Given the description of an element on the screen output the (x, y) to click on. 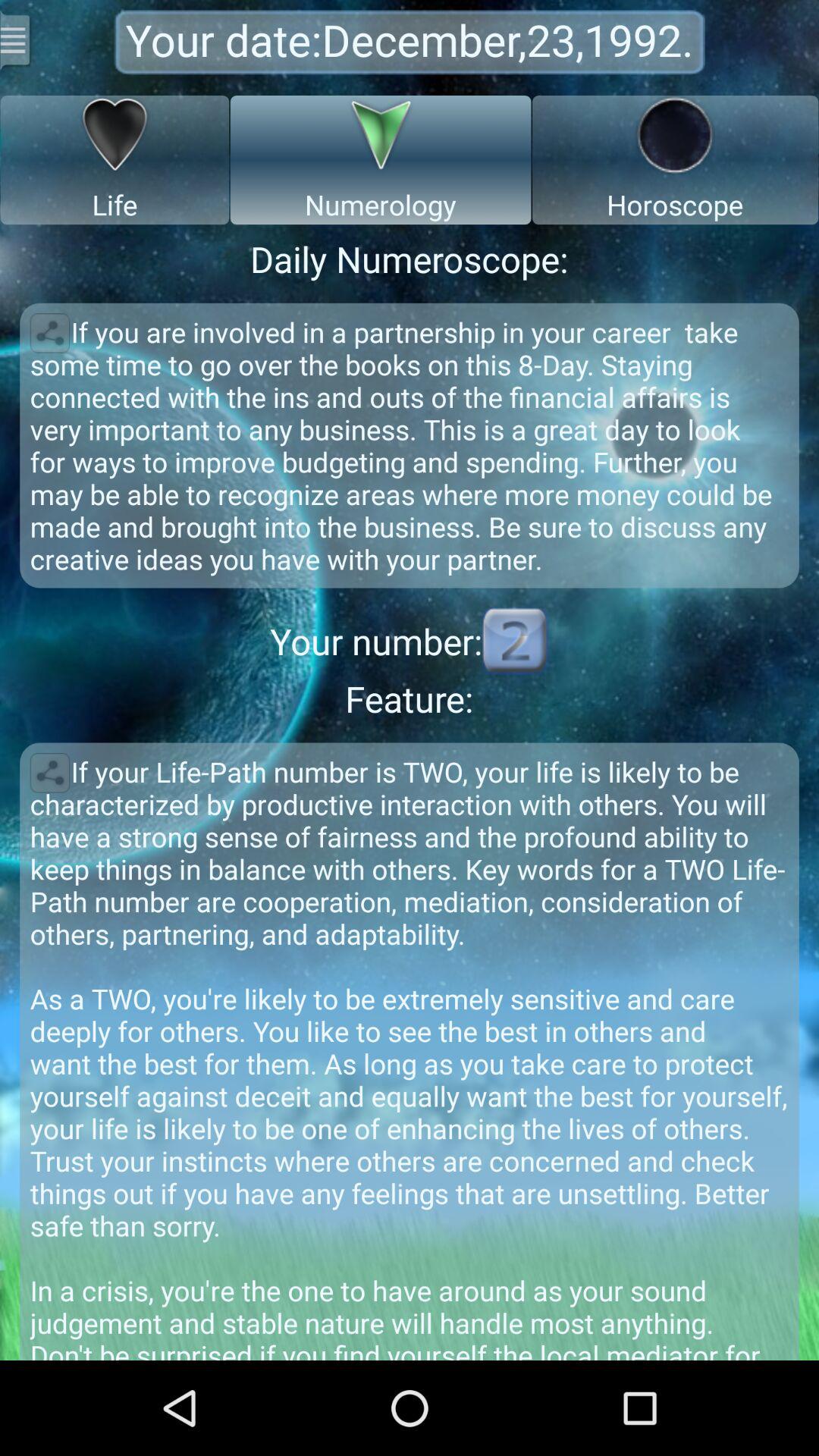
shares (49, 772)
